Given the description of an element on the screen output the (x, y) to click on. 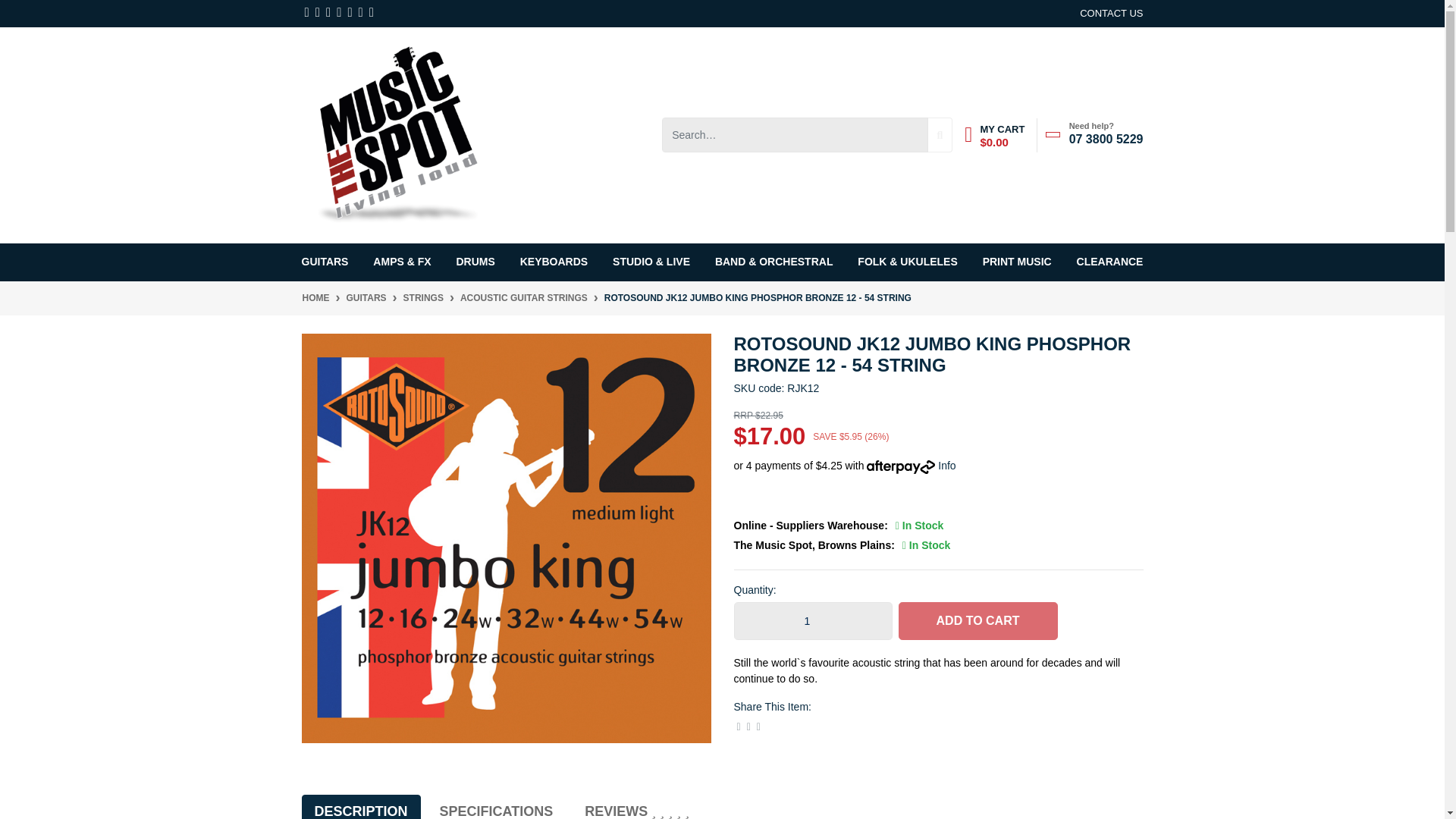
The Music Spot (398, 133)
07 3800 5229 (1105, 137)
CONTACT US (1111, 13)
1 (812, 620)
GUITARS (328, 261)
